Given the description of an element on the screen output the (x, y) to click on. 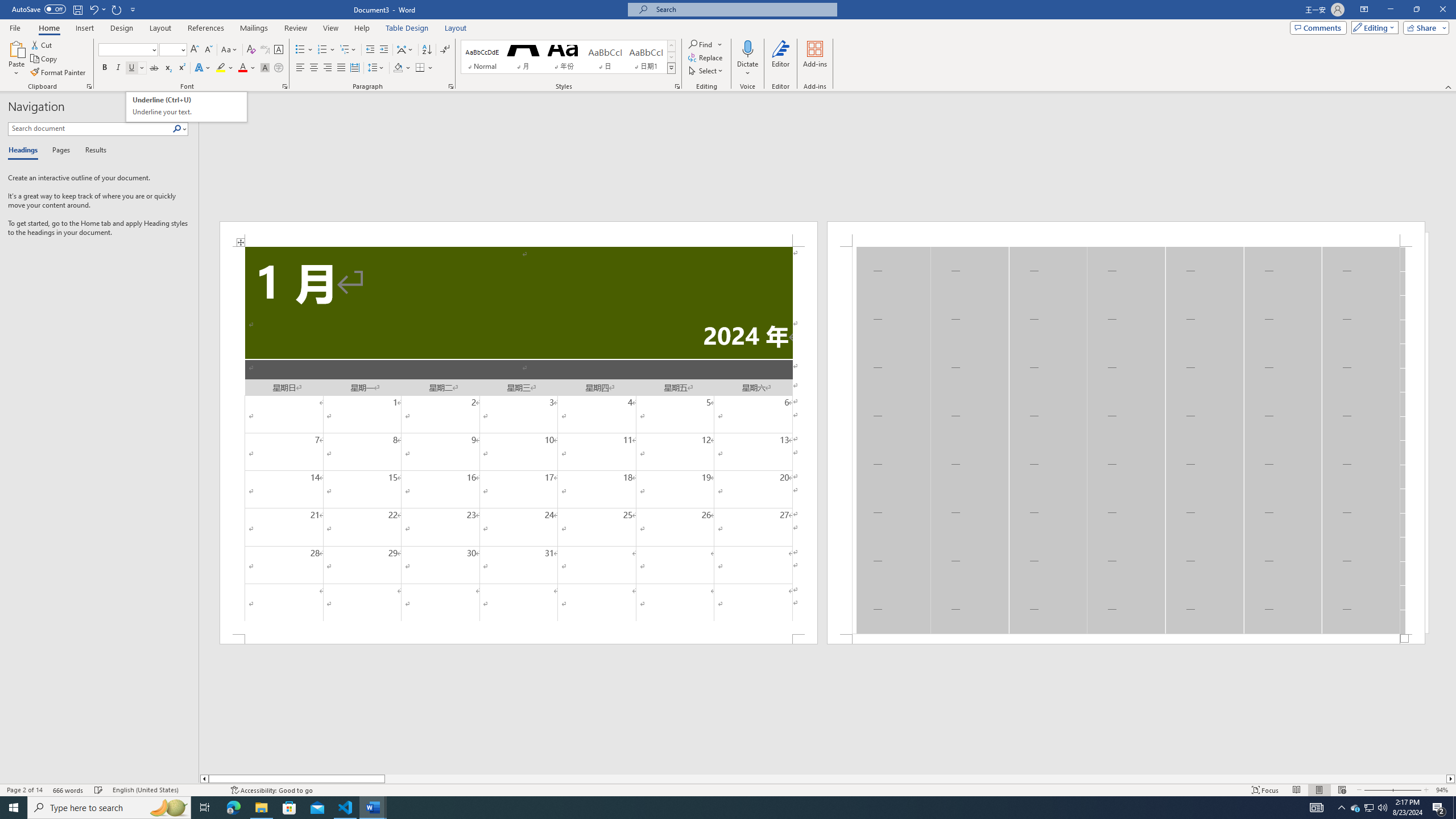
Copy (45, 58)
Text Highlight Color Yellow (220, 67)
Microsoft search (742, 9)
Phonetic Guide... (264, 49)
Multilevel List (347, 49)
Show/Hide Editing Marks (444, 49)
Table Design (407, 28)
Undo Apply Quick Style (96, 9)
